Given the description of an element on the screen output the (x, y) to click on. 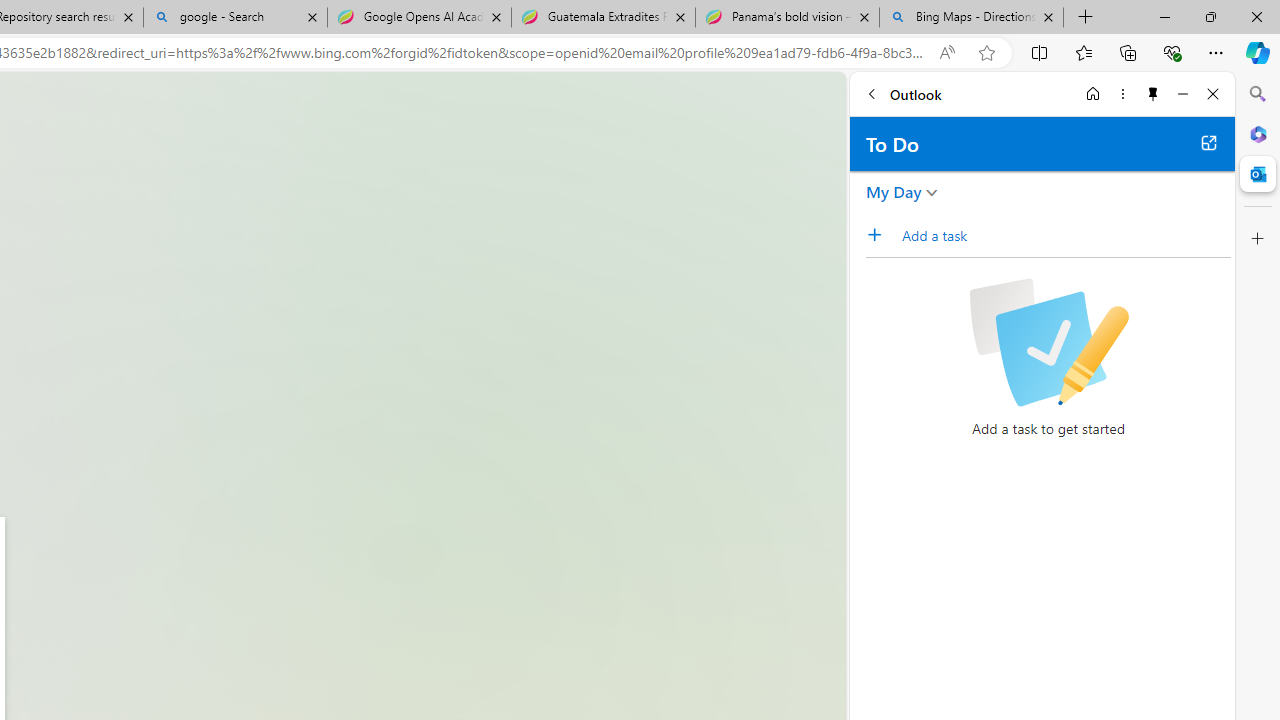
Add a task (1065, 235)
Checkbox with a pencil (1047, 342)
My Day (893, 191)
